Given the description of an element on the screen output the (x, y) to click on. 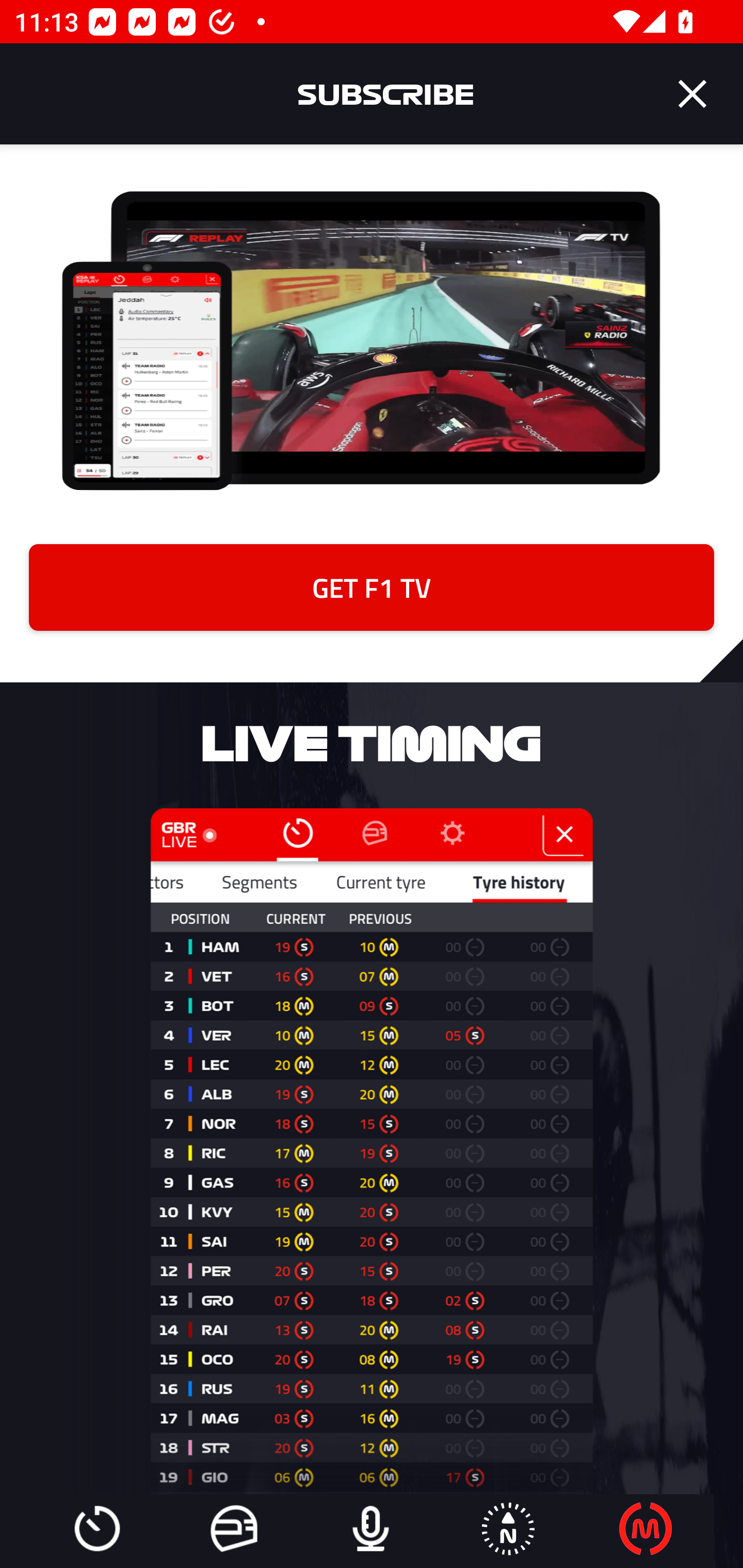
Close (692, 93)
GET F1 TV (371, 587)
